Given the description of an element on the screen output the (x, y) to click on. 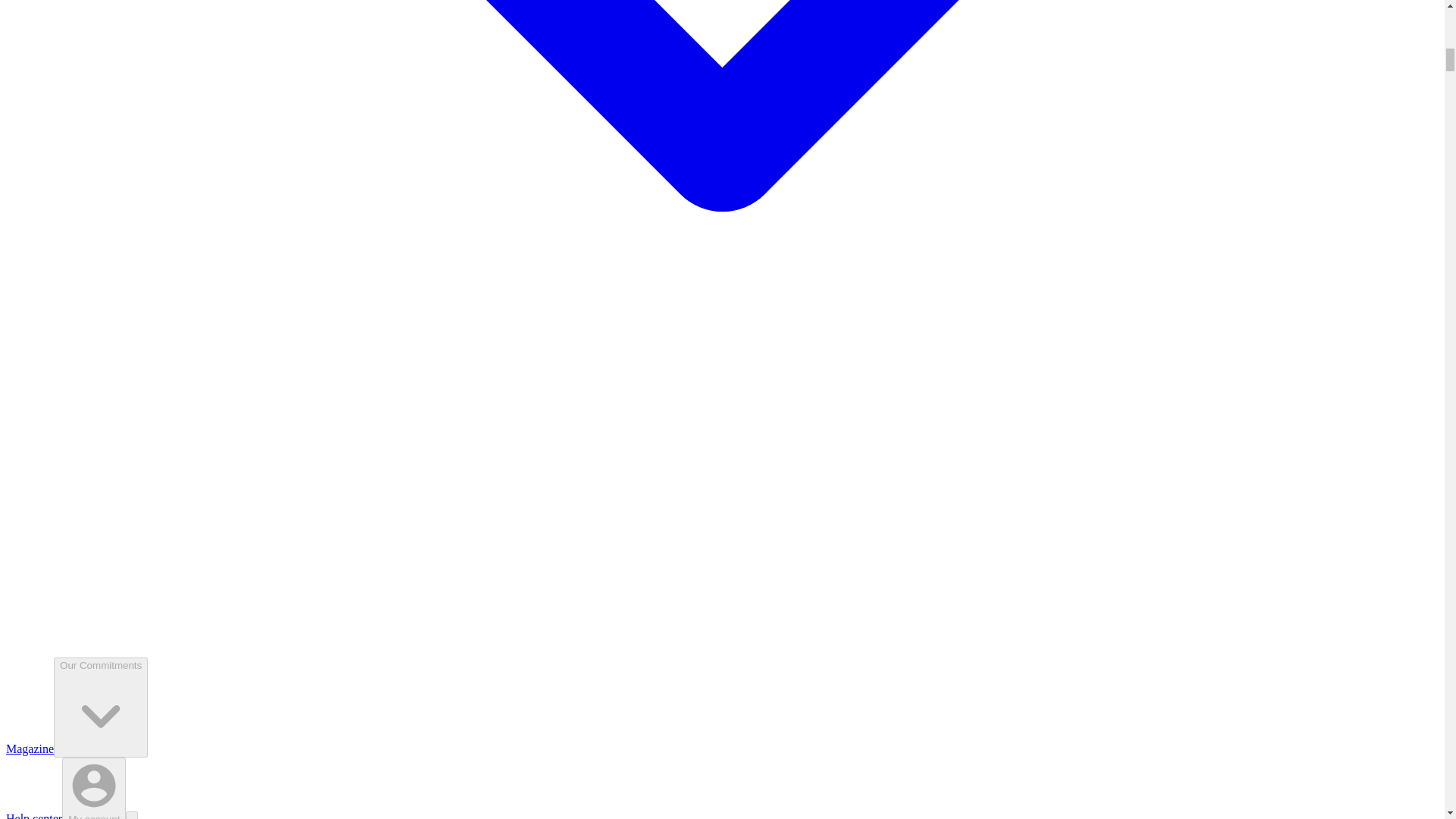
Help center (33, 815)
My account (93, 788)
Magazine (29, 748)
Our Commitments (100, 707)
